Given the description of an element on the screen output the (x, y) to click on. 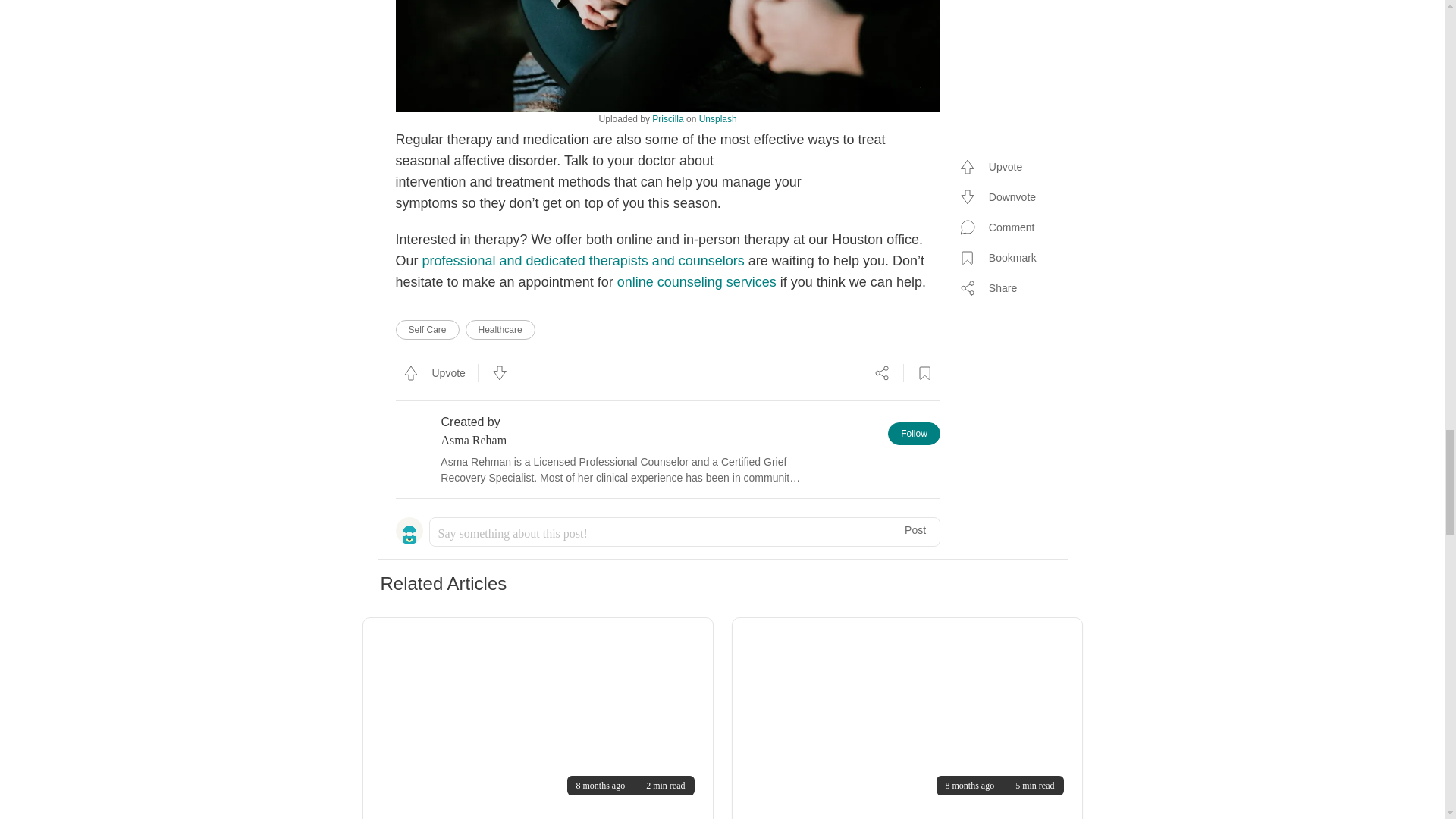
Follow (914, 433)
professional and dedicated therapists and counselors (583, 260)
Healthcare (500, 329)
online counseling services (907, 714)
Unsplash (696, 281)
Priscilla (717, 118)
Self Care (667, 118)
